Given the description of an element on the screen output the (x, y) to click on. 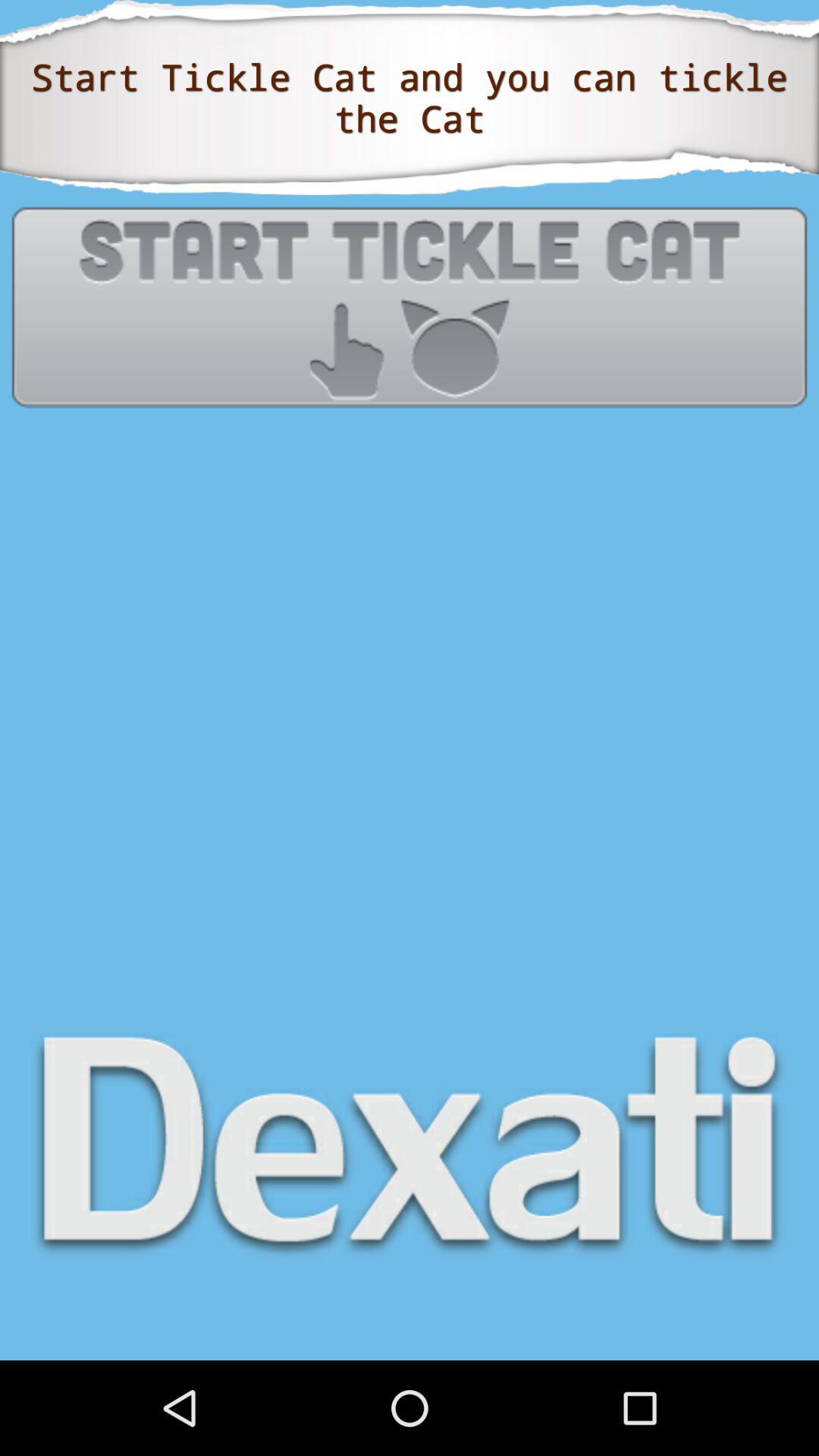
start tickle cat (409, 306)
